Given the description of an element on the screen output the (x, y) to click on. 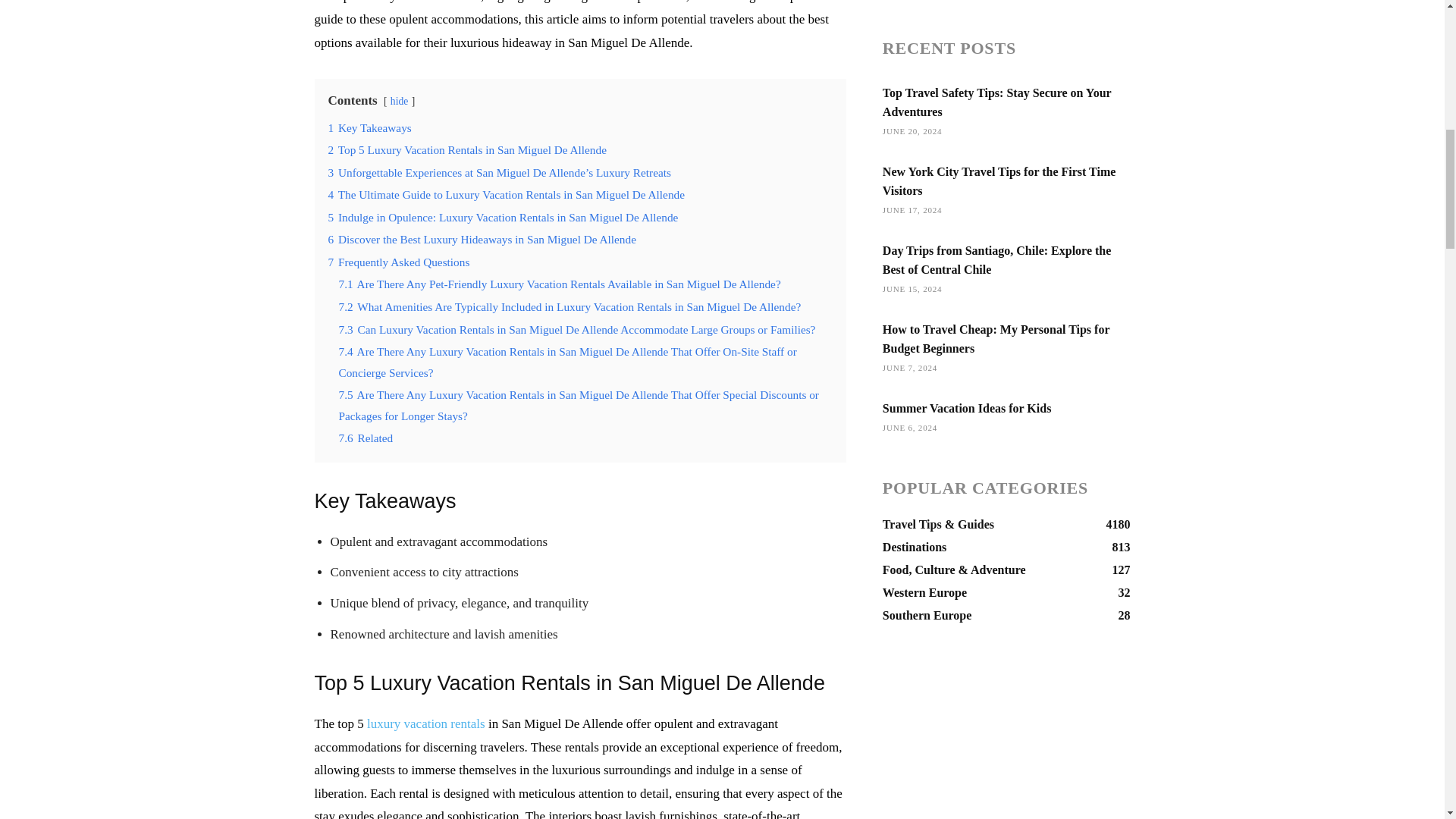
hide (398, 101)
luxury vacation rentals (425, 723)
luxury vacation rentals (425, 723)
2 Top 5 Luxury Vacation Rentals in San Miguel De Allende (466, 149)
7.6 Related (365, 437)
1 Key Takeaways (368, 127)
7 Frequently Asked Questions (397, 261)
